Given the description of an element on the screen output the (x, y) to click on. 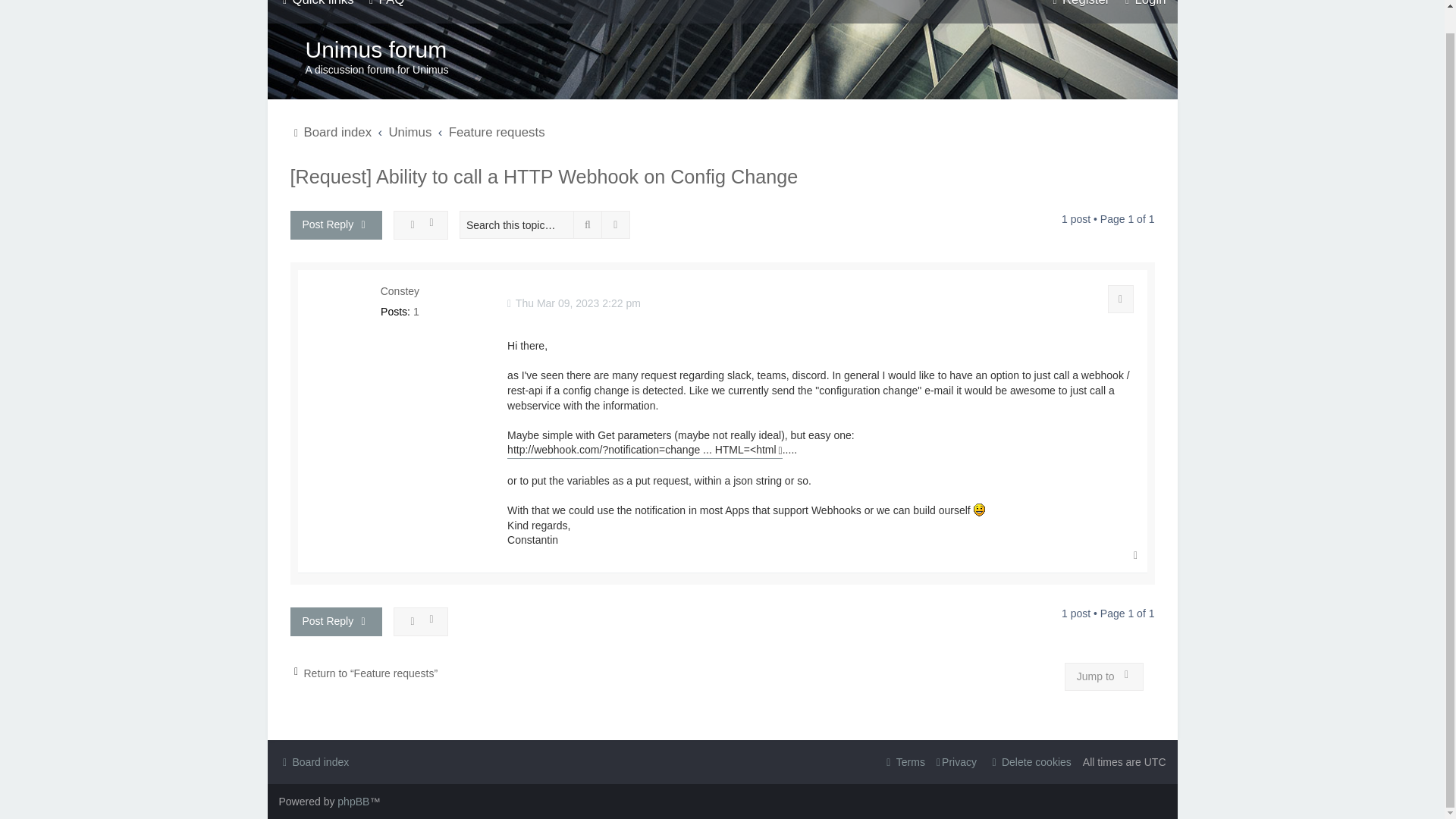
Board index (330, 132)
Quick links (316, 5)
Thu Mar 09, 2023 2:22 pm (573, 303)
Search (587, 224)
Opens in new window (644, 450)
Search (587, 224)
FAQ (384, 5)
Delete cookies (1029, 762)
Feature requests (496, 132)
Feature requests (496, 132)
